Given the description of an element on the screen output the (x, y) to click on. 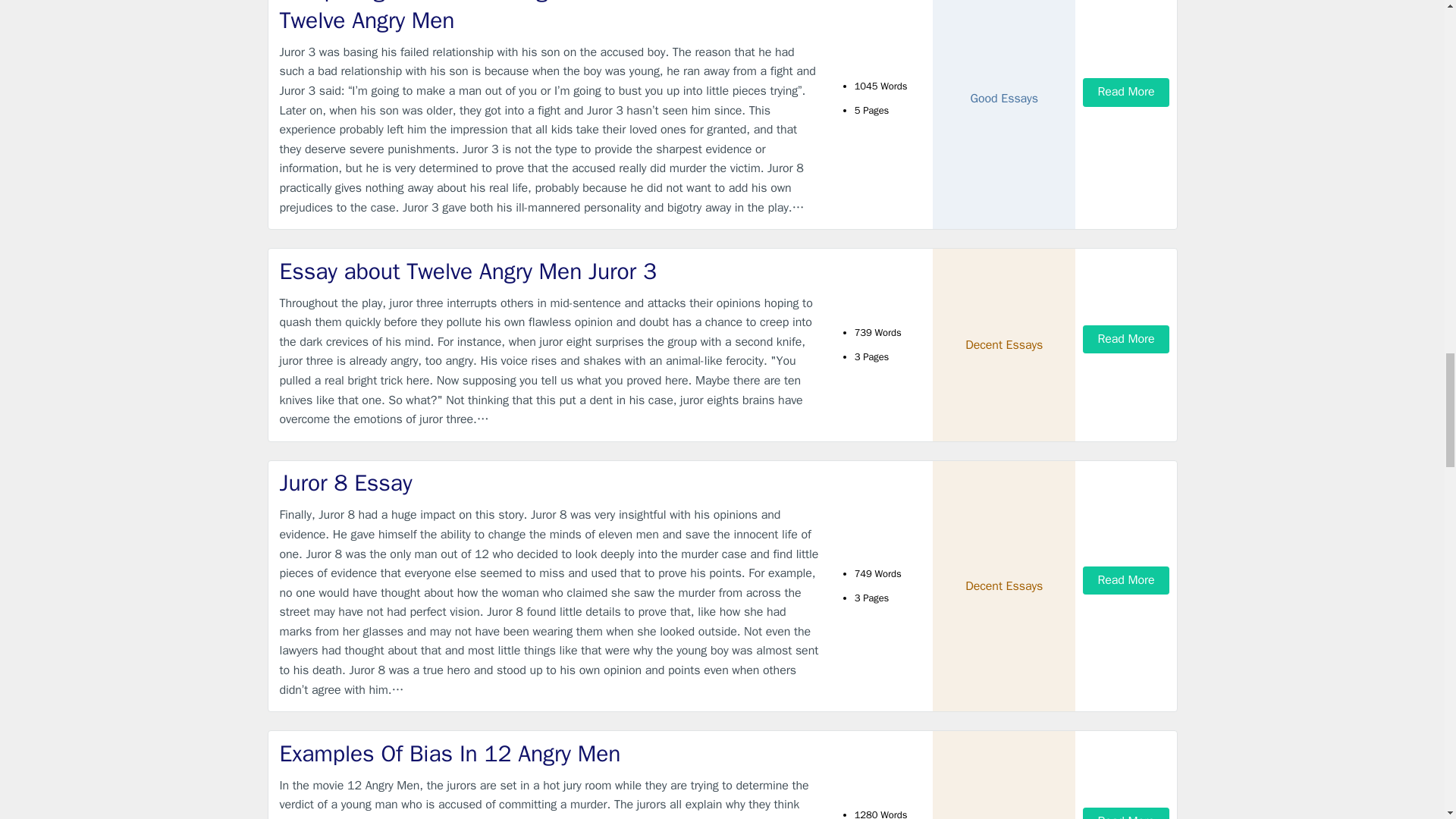
Read More (1126, 91)
Essay about Twelve Angry Men Juror 3 (548, 271)
Read More (1126, 580)
Examples Of Bias In 12 Angry Men (548, 753)
Read More (1126, 338)
Juror 8 Essay (548, 482)
